Given the description of an element on the screen output the (x, y) to click on. 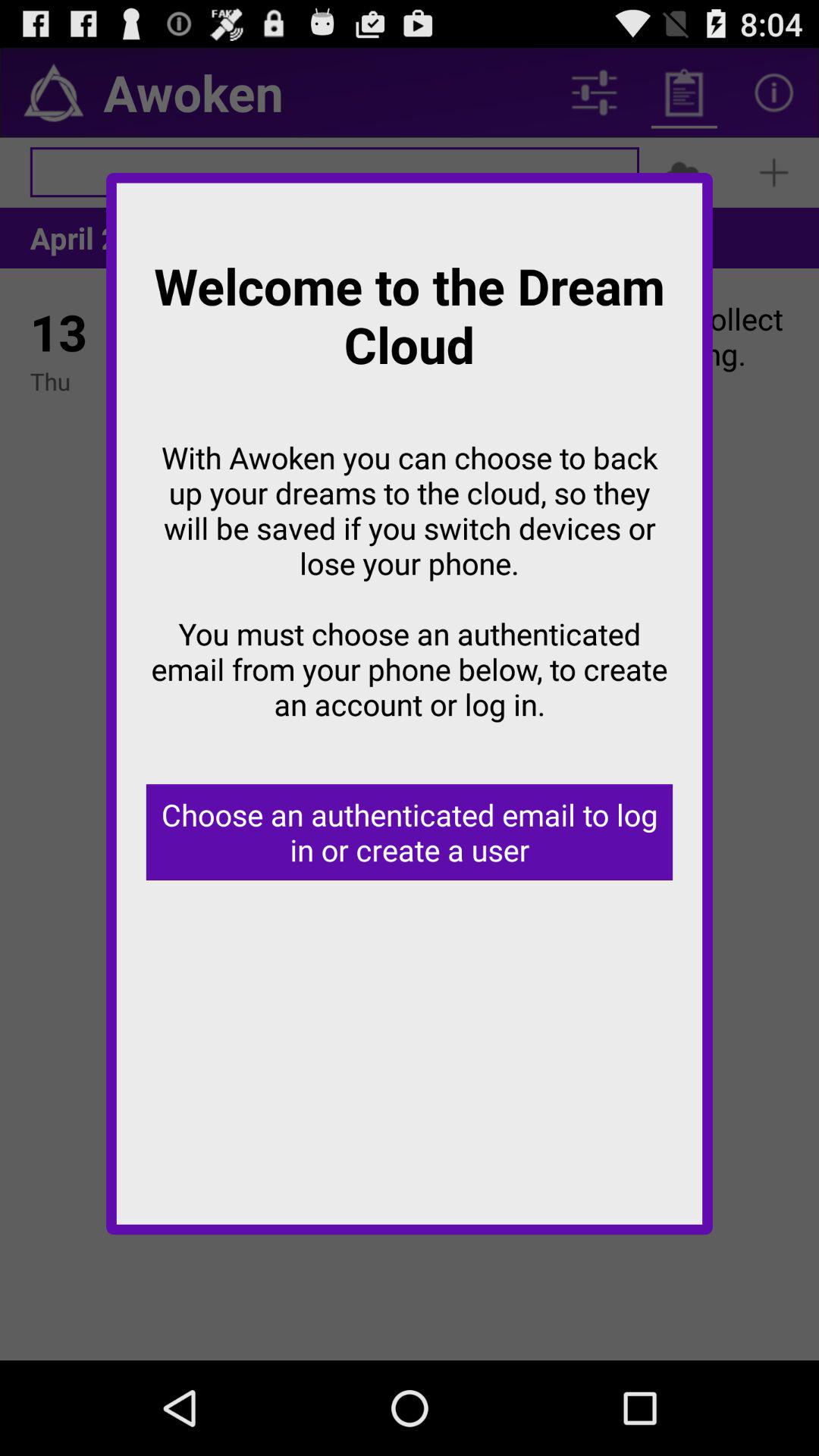
flip until choose an authenticated icon (409, 832)
